Given the description of an element on the screen output the (x, y) to click on. 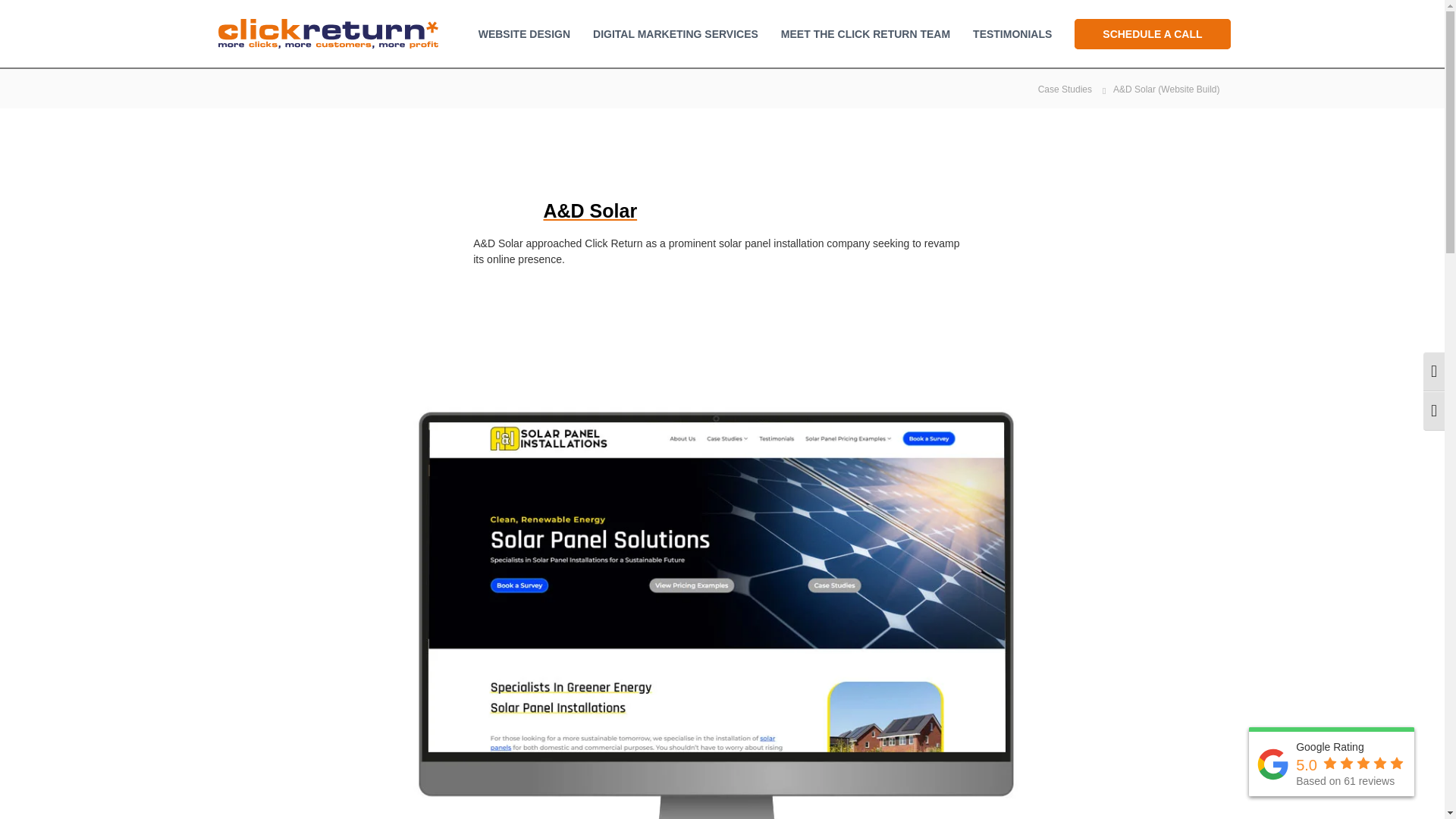
SCHEDULE A CALL (1152, 33)
TESTIMONIALS (1011, 33)
WEBSITE DESIGN (524, 33)
DIGITAL MARKETING SERVICES (675, 33)
Case Studies (1064, 88)
MEET THE CLICK RETURN TEAM (865, 33)
